Given the description of an element on the screen output the (x, y) to click on. 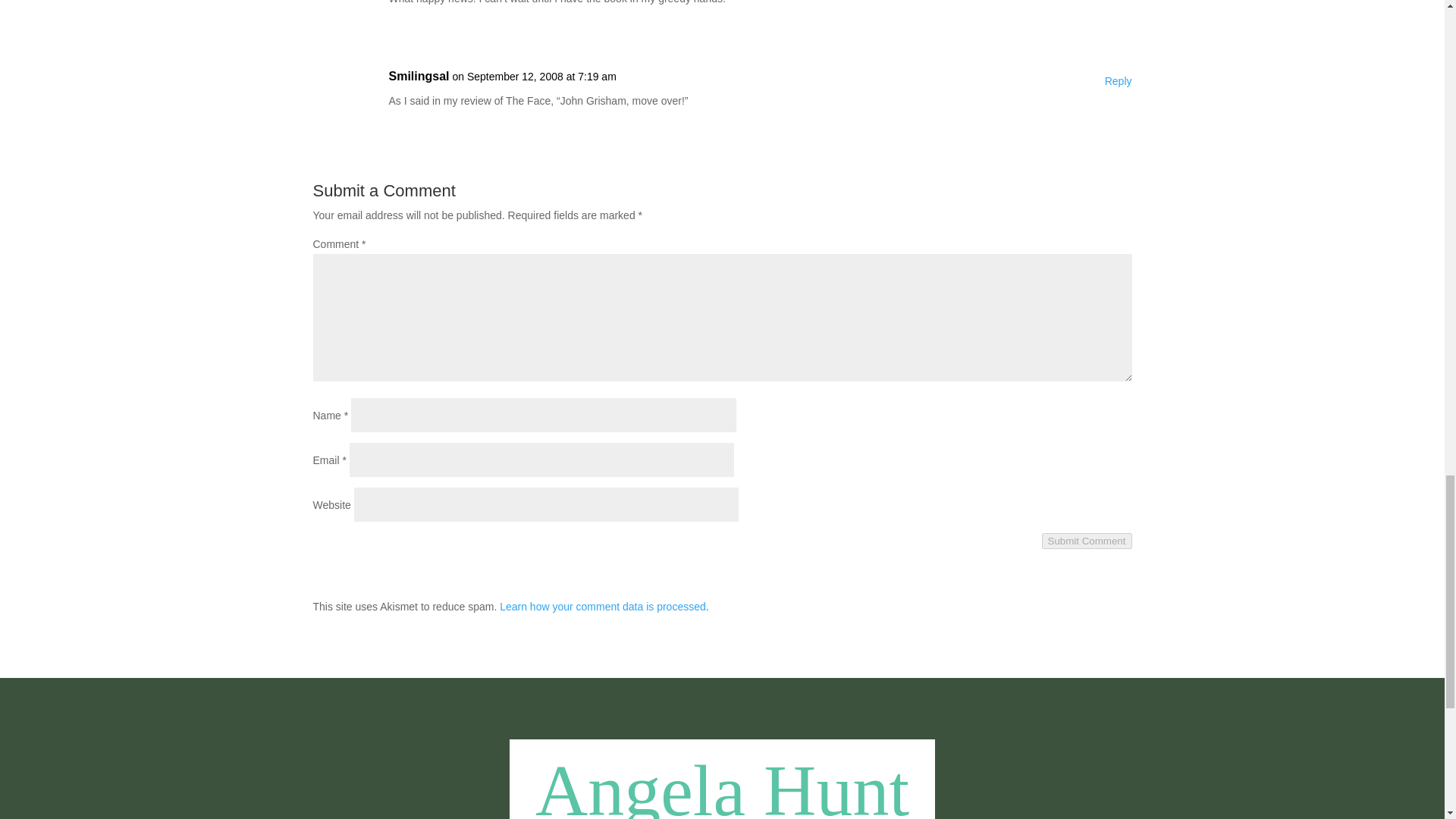
Learn how your comment data is processed (602, 606)
Smilingsal (418, 76)
Reply (1118, 81)
Submit Comment (1087, 540)
